Given the description of an element on the screen output the (x, y) to click on. 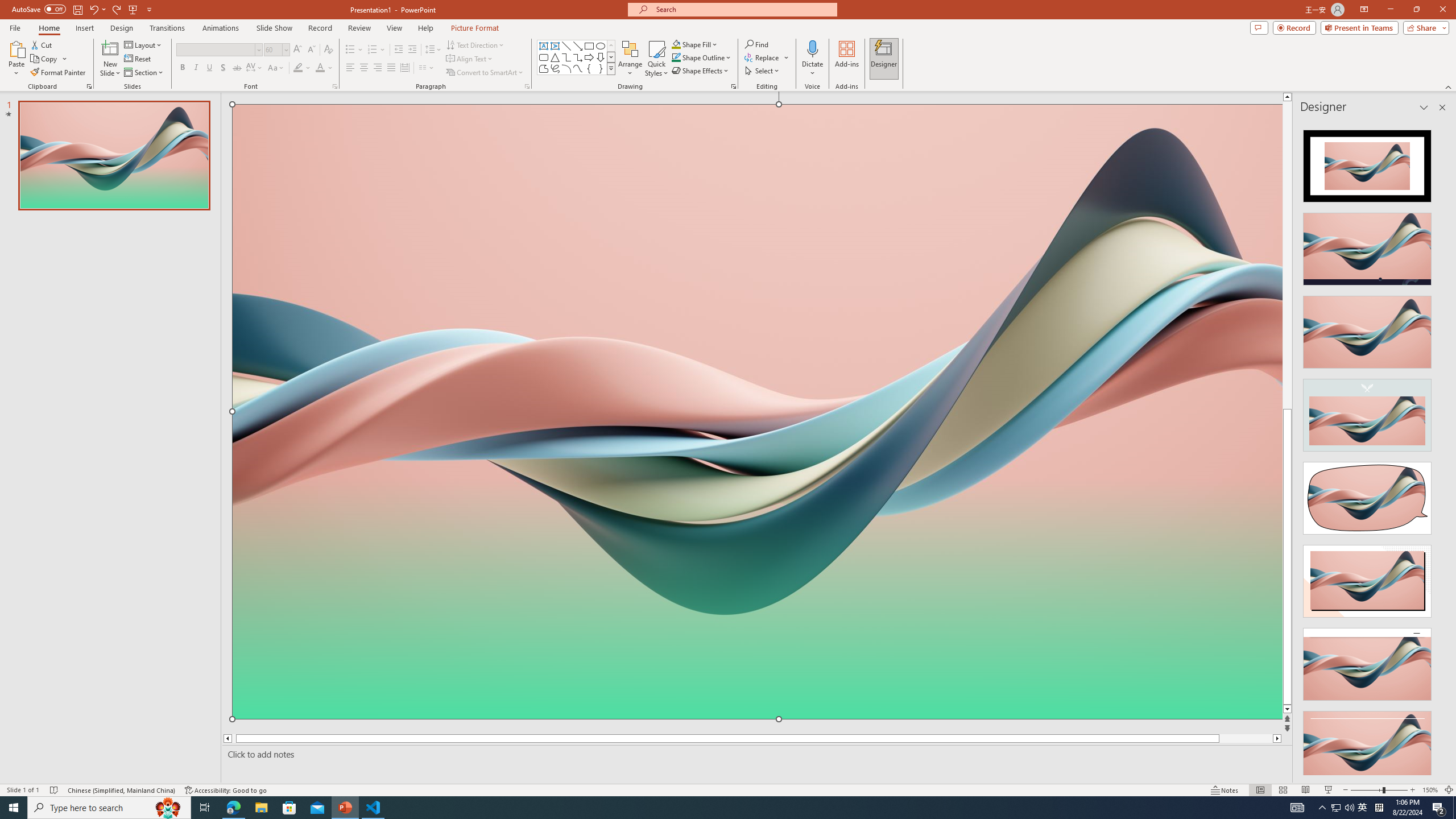
Wavy 3D art (757, 411)
